Given the description of an element on the screen output the (x, y) to click on. 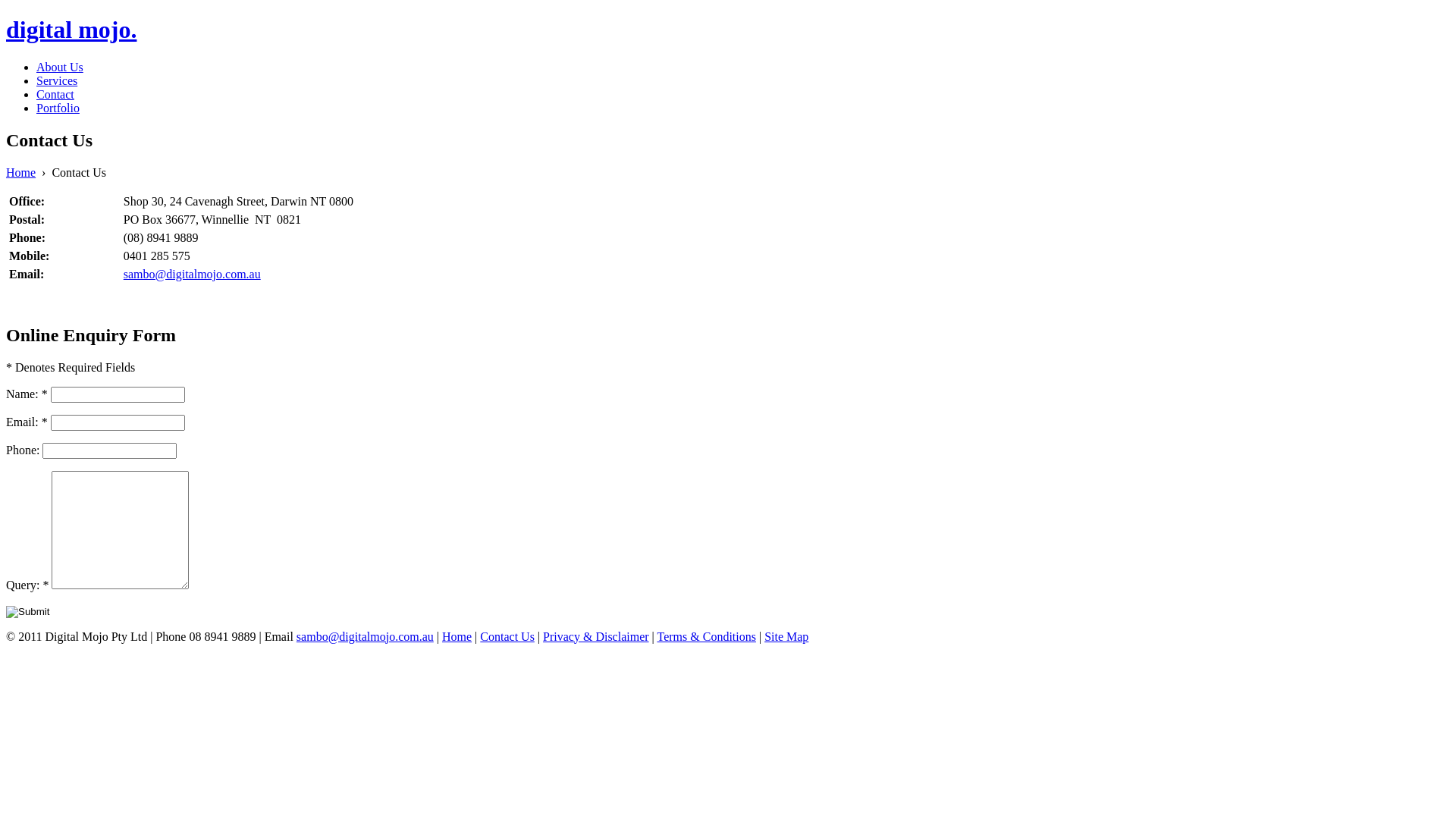
Portfolio Element type: text (57, 107)
sambo@digitalmojo.com.au Element type: text (364, 635)
Home Element type: text (456, 635)
Services Element type: text (56, 80)
Contact Us Element type: text (507, 635)
About Us Element type: text (59, 66)
Home Element type: text (20, 172)
Terms & Conditions Element type: text (705, 635)
sambo@digitalmojo.com.au Element type: text (191, 273)
Contact Element type: text (55, 93)
Site Map Element type: text (786, 635)
Privacy & Disclaimer Element type: text (595, 635)
digital mojo. Element type: text (727, 29)
